Given the description of an element on the screen output the (x, y) to click on. 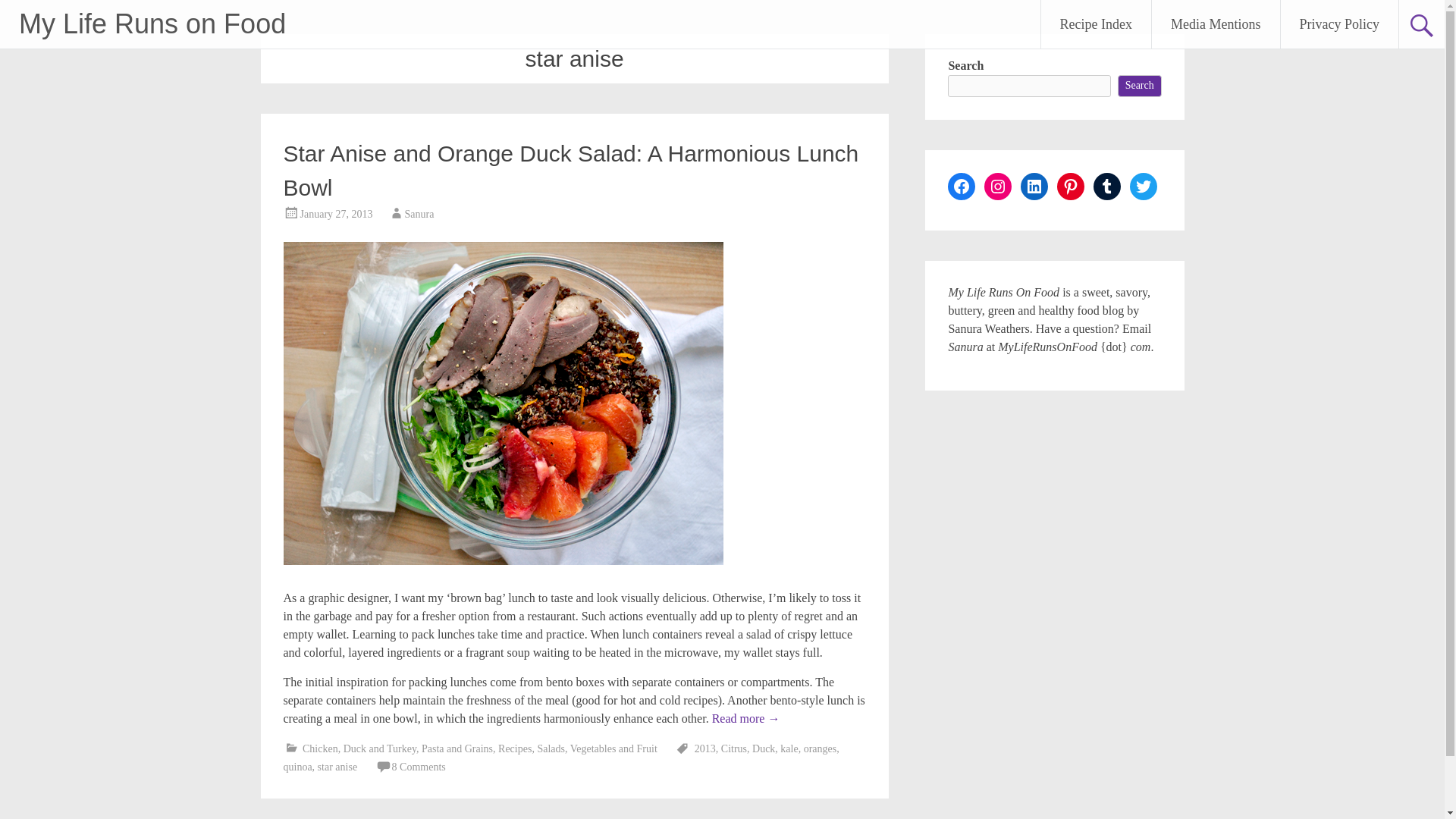
Instagram (997, 185)
8 Comments (418, 767)
Duck (763, 748)
Chicken, Duck and Turkey (359, 748)
oranges (820, 748)
Recipe Index (1096, 24)
Pasta and Grains (457, 748)
My Life Runs on Food (151, 23)
Vegetables and Fruit (614, 748)
Facebook (961, 185)
